Given the description of an element on the screen output the (x, y) to click on. 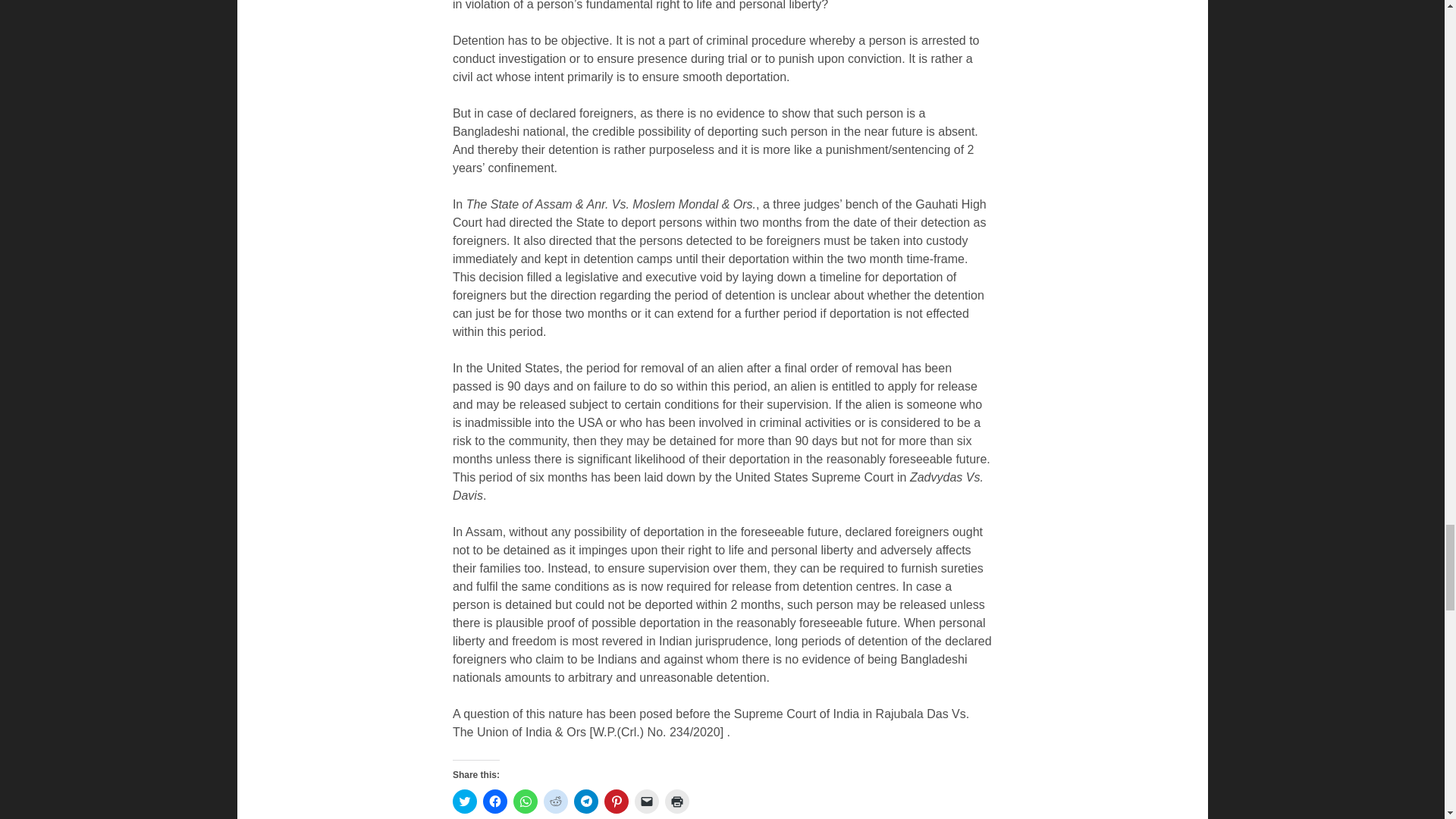
Click to share on Pinterest (616, 801)
Click to share on Twitter (464, 801)
Click to print (676, 801)
Click to share on WhatsApp (525, 801)
Click to share on Telegram (585, 801)
Click to email a link to a friend (646, 801)
Click to share on Reddit (555, 801)
Click to share on Facebook (494, 801)
